Given the description of an element on the screen output the (x, y) to click on. 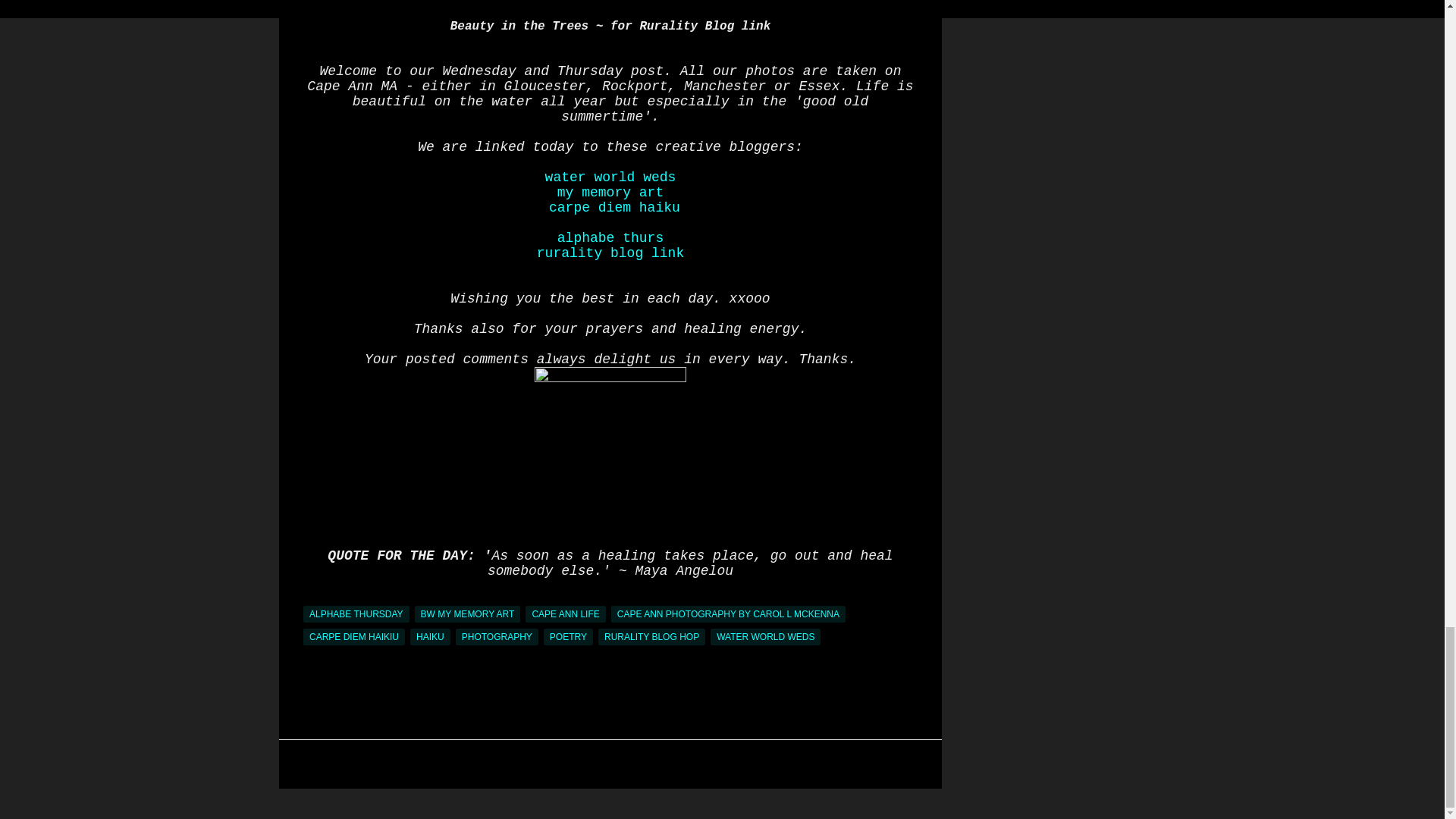
CARPE DIEM HAIKIU (353, 636)
carpe diem haiku (613, 207)
HAIKU (429, 636)
CAPE ANN LIFE (565, 614)
RURALITY BLOG HOP (651, 636)
POETRY (567, 636)
water world weds (610, 177)
rurality blog link (610, 253)
alphabe thurs (610, 237)
BW MY MEMORY ART (467, 614)
PHOTOGRAPHY (496, 636)
ALPHABE THURSDAY (355, 614)
WATER WORLD WEDS (765, 636)
my memory art (610, 192)
